Given the description of an element on the screen output the (x, y) to click on. 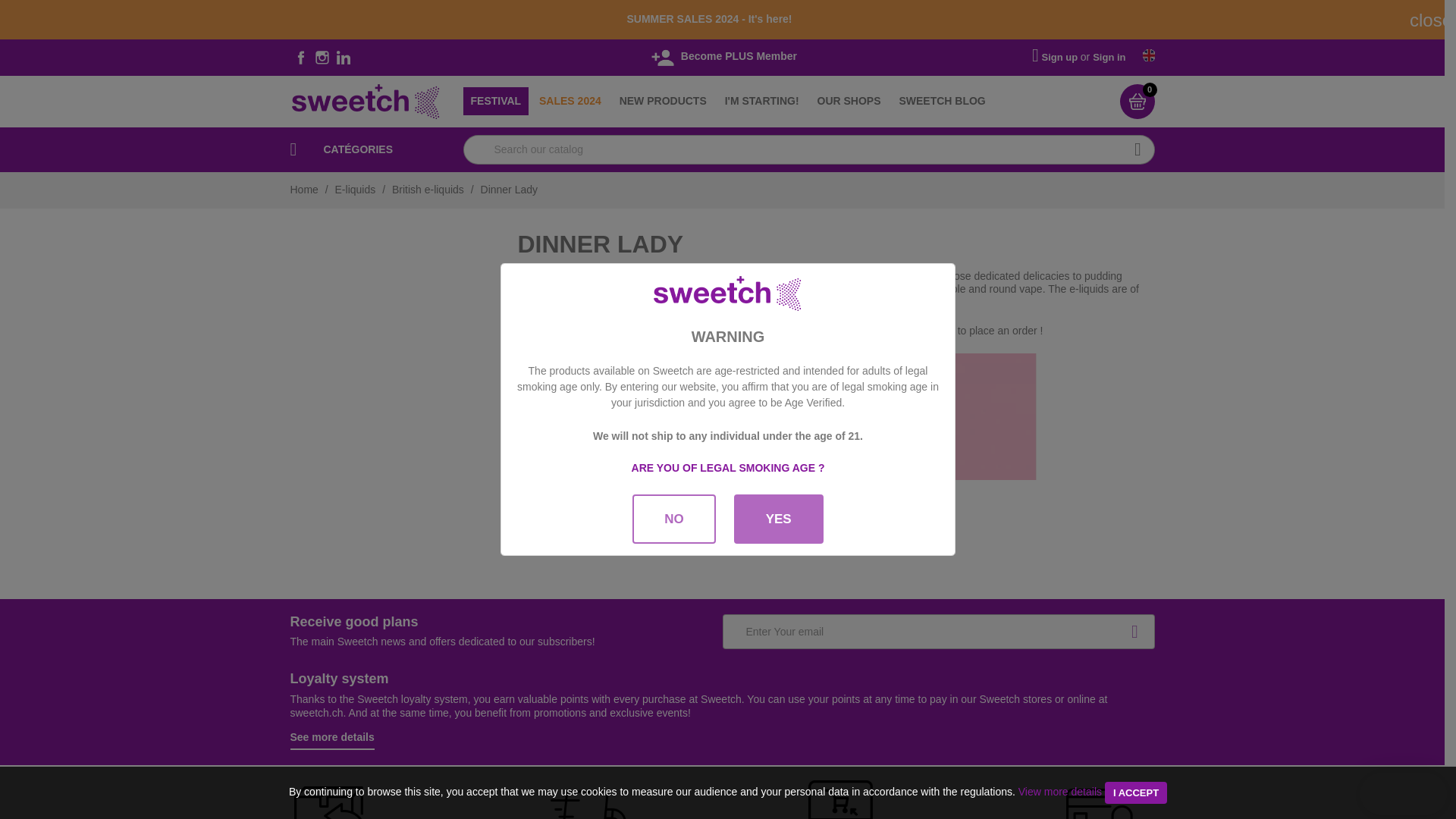
Log in to your customer account (1109, 56)
Become PLUS Member (721, 55)
Instagram (321, 57)
Create a customer account (1061, 56)
Sign up (1061, 56)
NO (673, 518)
OUR SHOPS (848, 101)
YES (778, 518)
Sign in (1109, 56)
SUMMER SALES 2024 - It's here! (709, 19)
I'M STARTING! (761, 101)
Facebook (299, 57)
NEW PRODUCTS (662, 101)
SWEETCH BLOG (941, 101)
See more details on our loyalty system (331, 740)
